Given the description of an element on the screen output the (x, y) to click on. 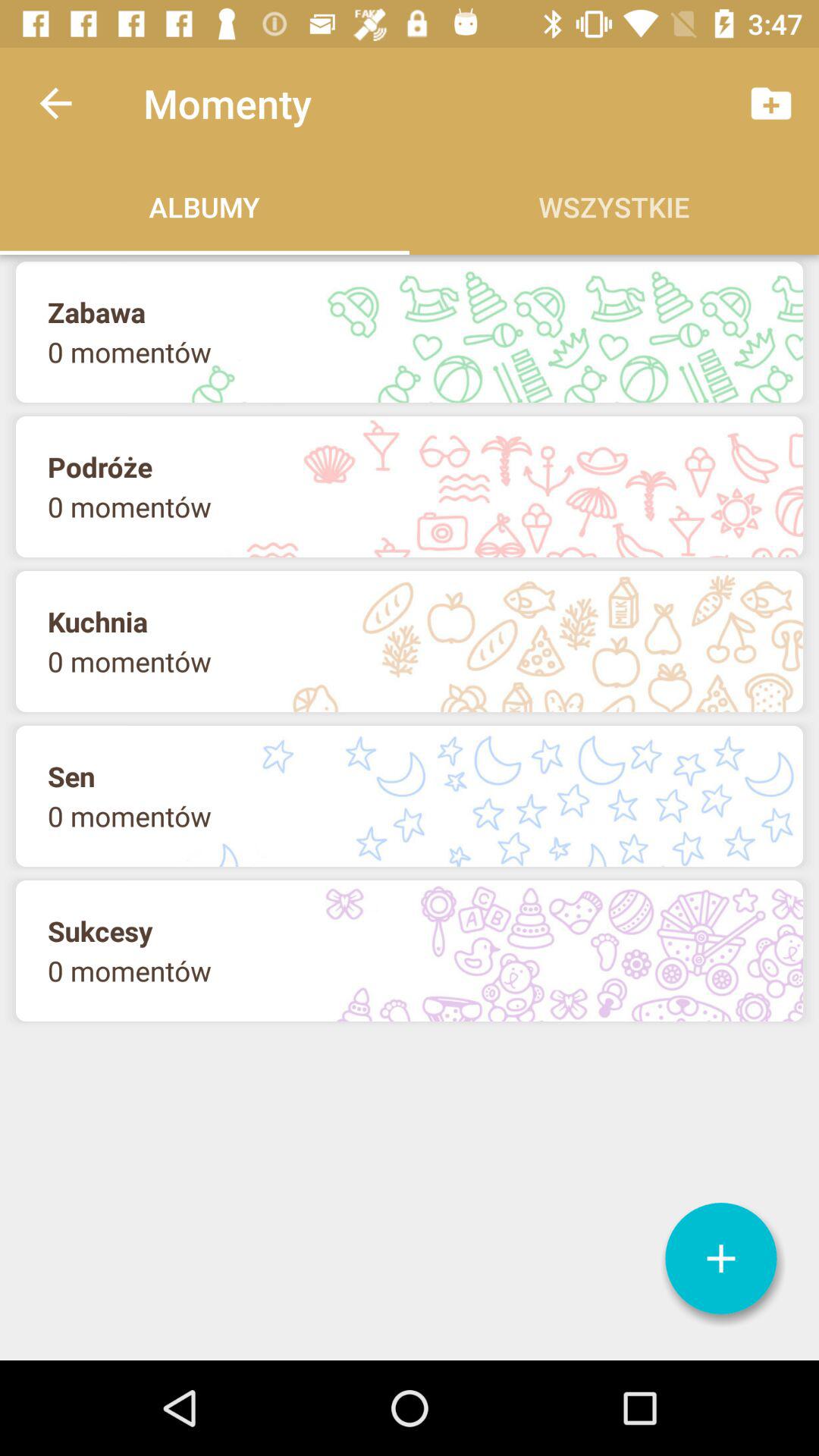
turn off icon at the bottom right corner (721, 1258)
